Given the description of an element on the screen output the (x, y) to click on. 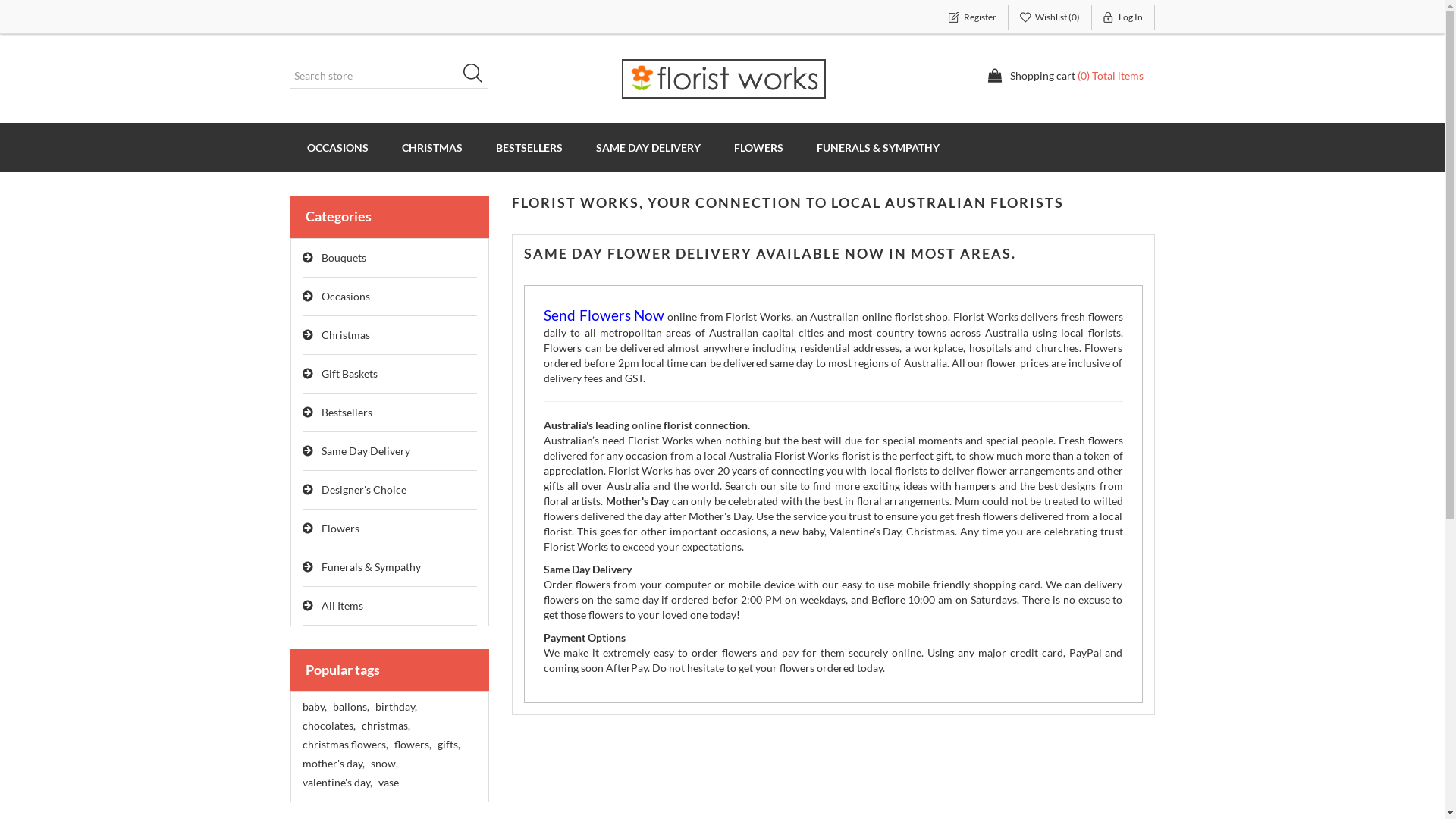
Flowers Element type: text (388, 528)
Bestsellers Element type: text (388, 412)
snow, Element type: text (383, 763)
OCCASIONS Element type: text (336, 147)
Funerals & Sympathy Element type: text (388, 567)
All Items Element type: text (388, 605)
gifts, Element type: text (447, 744)
Gift Baskets Element type: text (388, 373)
FLOWERS Element type: text (758, 147)
CHRISTMAS Element type: text (432, 147)
Bouquets Element type: text (388, 257)
FUNERALS & SYMPATHY Element type: text (877, 147)
chocolates, Element type: text (327, 725)
Wishlist (0) Element type: text (1050, 17)
SAME DAY DELIVERY Element type: text (648, 147)
Log In Element type: text (1123, 17)
christmas, Element type: text (384, 725)
Christmas Element type: text (388, 335)
ballons, Element type: text (350, 706)
Shopping cart (0) Total items Element type: text (1065, 75)
baby, Element type: text (313, 706)
Designer's Choice Element type: text (388, 489)
BESTSELLERS Element type: text (529, 147)
birthday, Element type: text (395, 706)
valentine's day, Element type: text (336, 782)
mother's day, Element type: text (332, 763)
vase Element type: text (387, 782)
Occasions Element type: text (388, 296)
Send Flowers Now Element type: text (603, 316)
christmas flowers, Element type: text (344, 744)
flowers, Element type: text (412, 744)
Register Element type: text (971, 17)
Same Day Delivery Element type: text (388, 451)
